Given the description of an element on the screen output the (x, y) to click on. 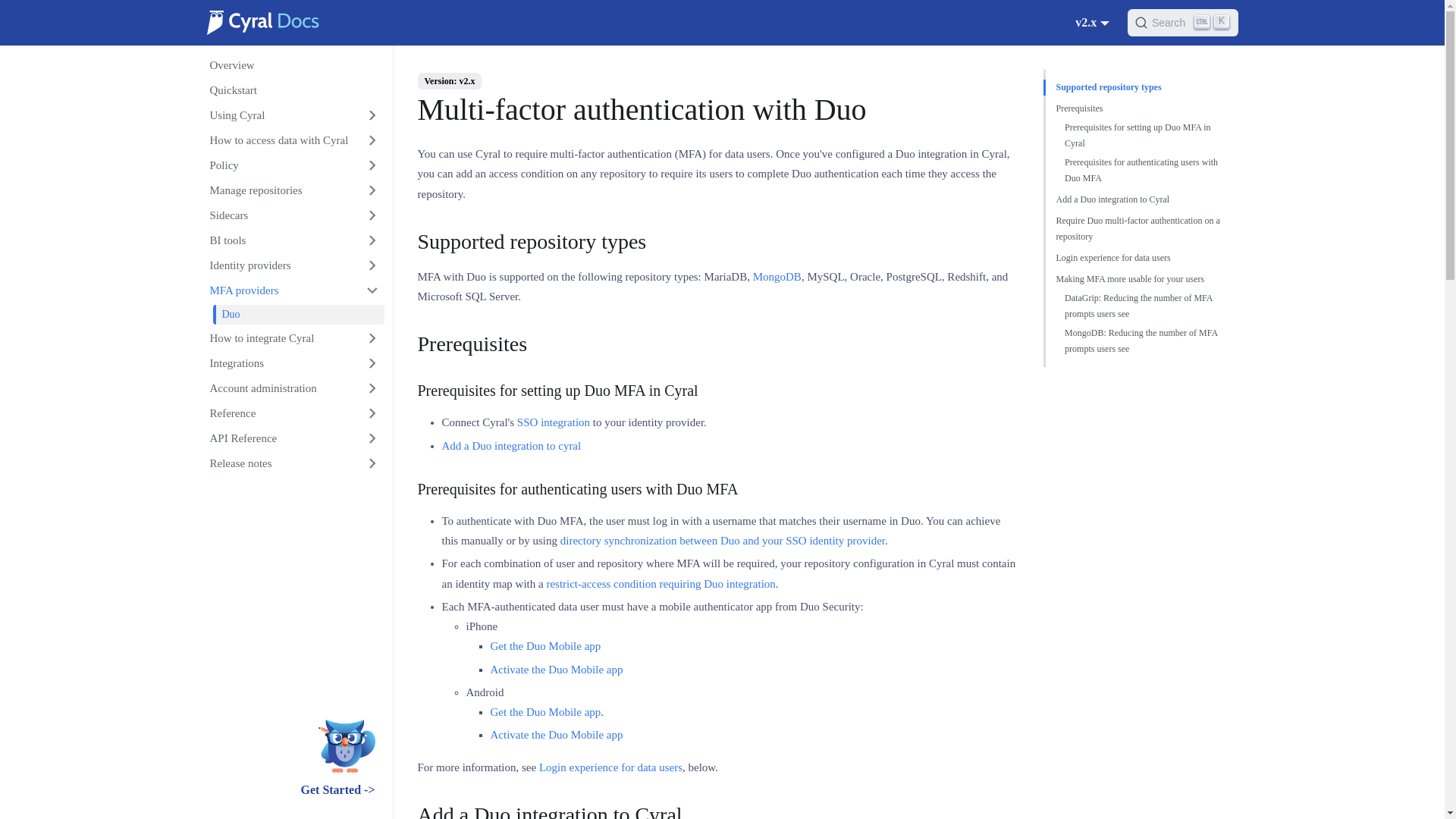
Duo (298, 314)
Manage repositories (292, 189)
Reference (292, 413)
MFA providers (292, 290)
Integrations (292, 362)
Overview (1182, 22)
v2.x (292, 65)
MongoDB (1092, 21)
How to integrate Cyral (777, 276)
